Given the description of an element on the screen output the (x, y) to click on. 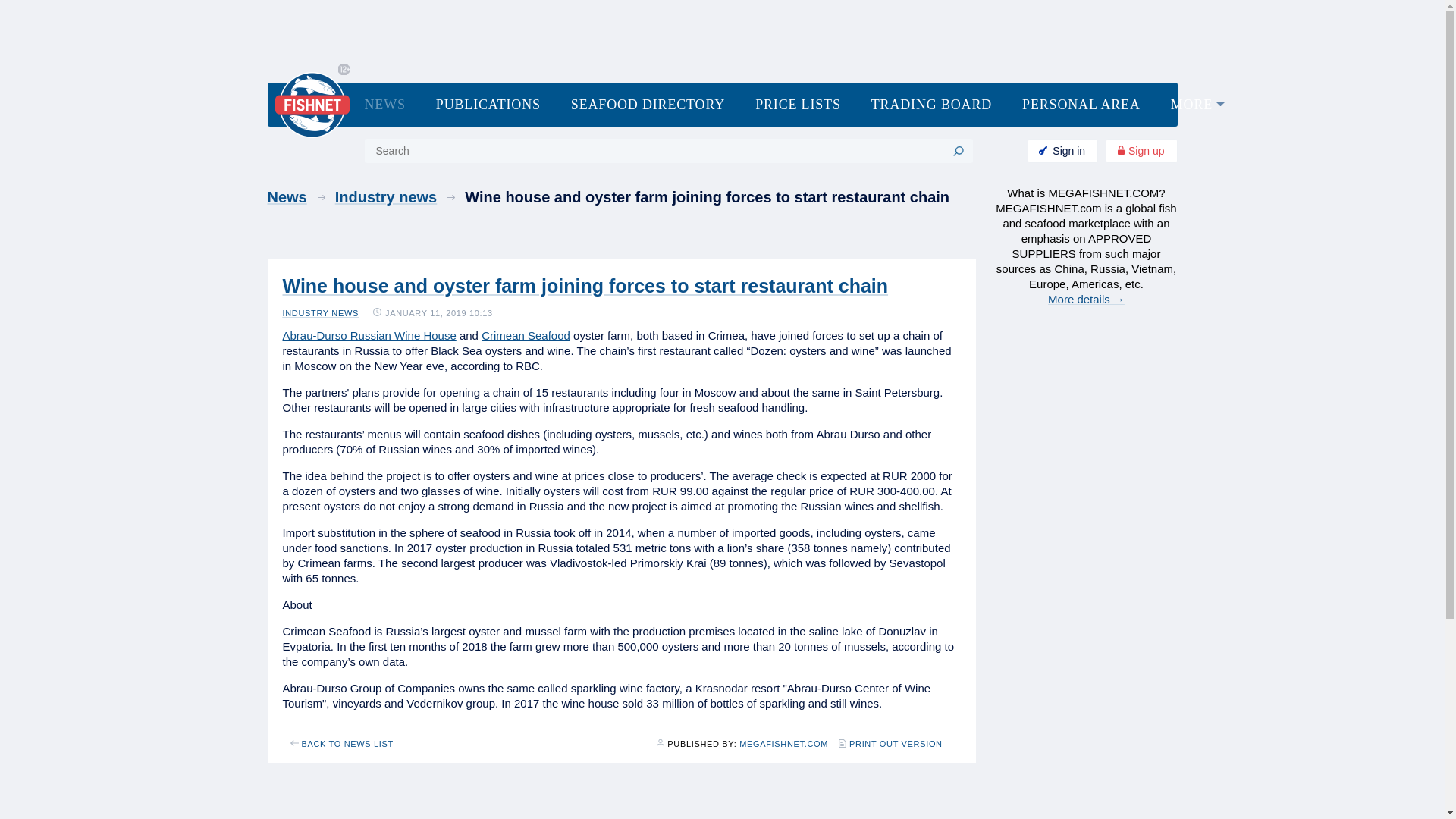
SEAFOOD DIRECTORY (647, 104)
FISHNET.RU (783, 743)
MORE (1197, 104)
PERSONAL AREA (1081, 104)
NEWS (384, 104)
PUBLICATIONS (487, 104)
PRICE LISTS (798, 104)
TRADING BOARD (930, 104)
